Given the description of an element on the screen output the (x, y) to click on. 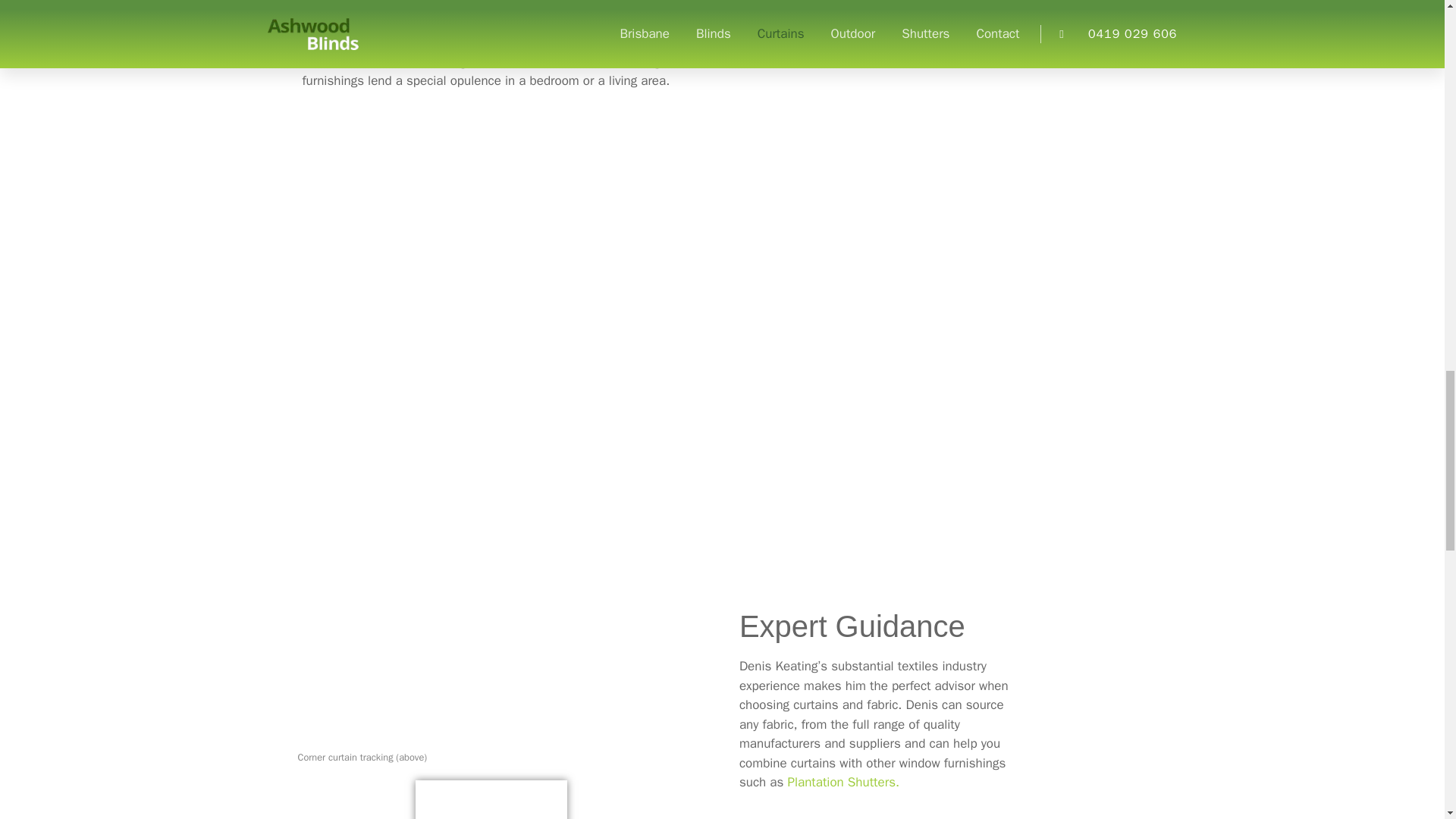
Brisbane curtains 17 (853, 456)
Embossed curtain fabric close-up (1056, 397)
Brisbane curtains 13 (490, 799)
Brisbane curtains 15 (943, 163)
Brisbane curtains 11 (491, 568)
Brisbane curtains 7 (354, 173)
Brisbane curtains 9 (539, 230)
